Given the description of an element on the screen output the (x, y) to click on. 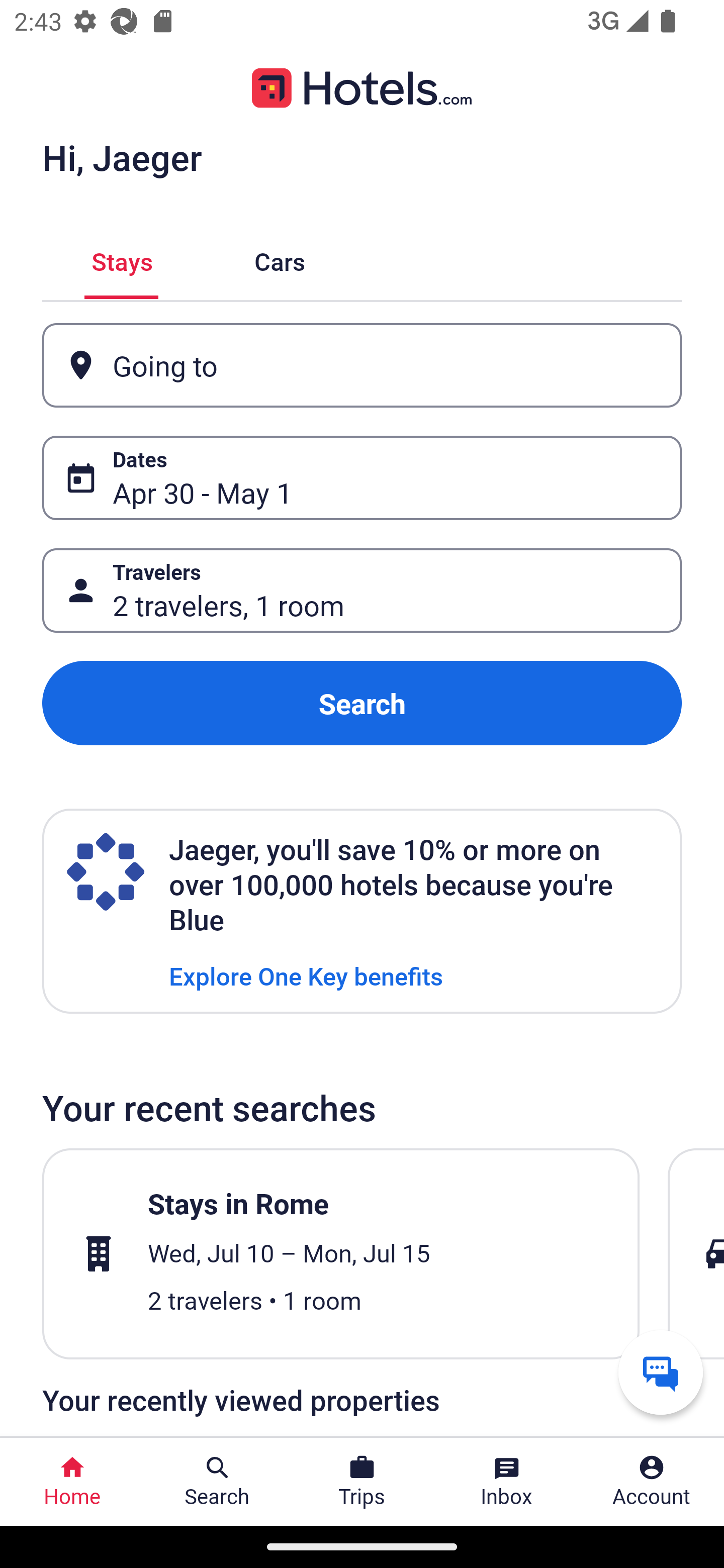
Hi, Jaeger (121, 156)
Cars (279, 259)
Going to Button (361, 365)
Dates Button Apr 30 - May 1 (361, 477)
Travelers Button 2 travelers, 1 room (361, 590)
Search (361, 702)
Get help from a virtual agent (660, 1371)
Search Search Button (216, 1481)
Trips Trips Button (361, 1481)
Inbox Inbox Button (506, 1481)
Account Profile. Button (651, 1481)
